Given the description of an element on the screen output the (x, y) to click on. 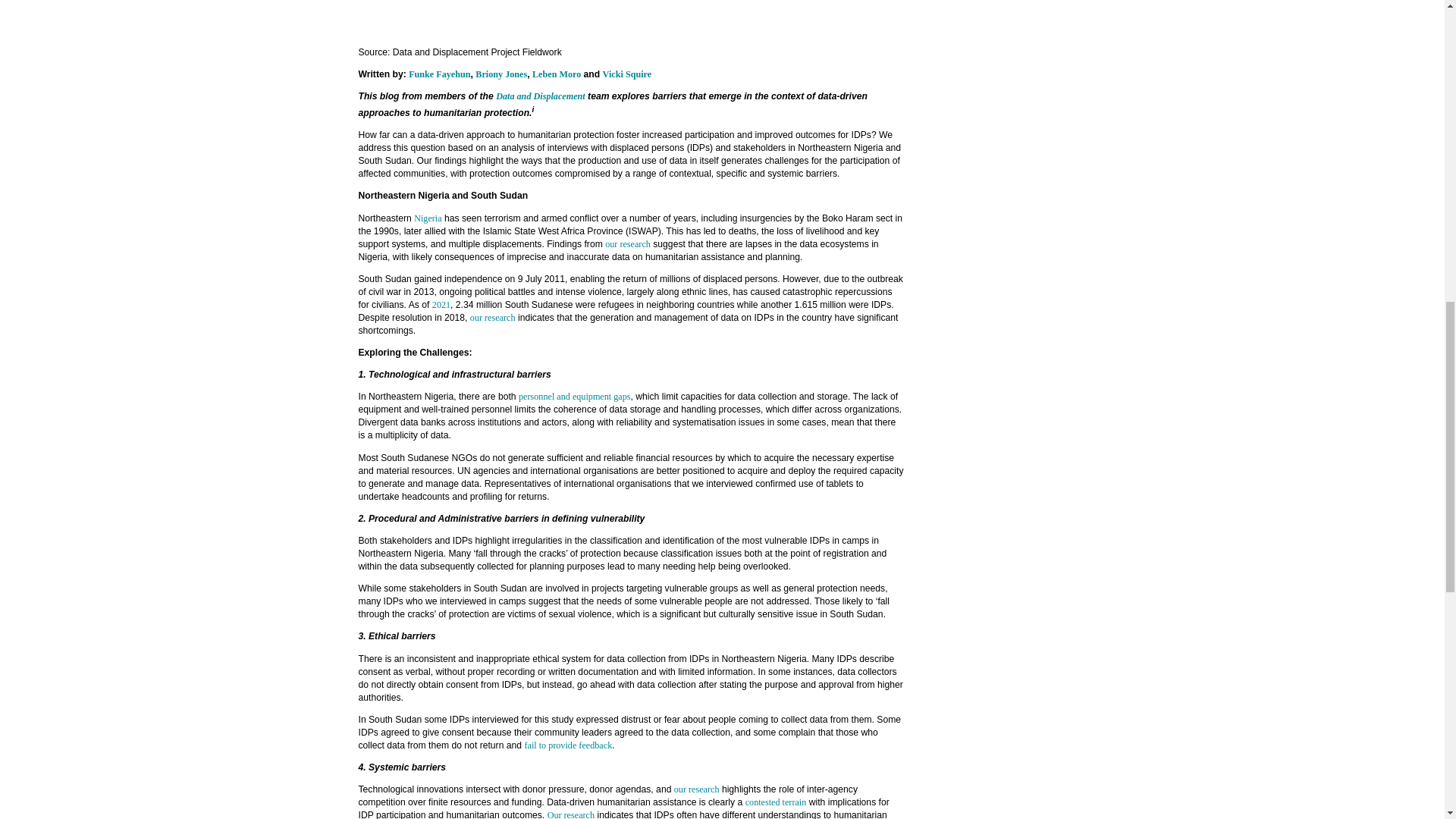
Briony Jones (501, 73)
Leben Moro (556, 73)
our research (696, 788)
2021 (440, 304)
Data and Displacement (540, 95)
Vicki Squire (627, 73)
Funke Fayehun (439, 73)
Nigeria (427, 217)
personnel and equipment gaps (574, 396)
our research (492, 317)
contested terrain (775, 801)
fail to provide feedback (567, 745)
Our research (570, 814)
our research (627, 244)
